Given the description of an element on the screen output the (x, y) to click on. 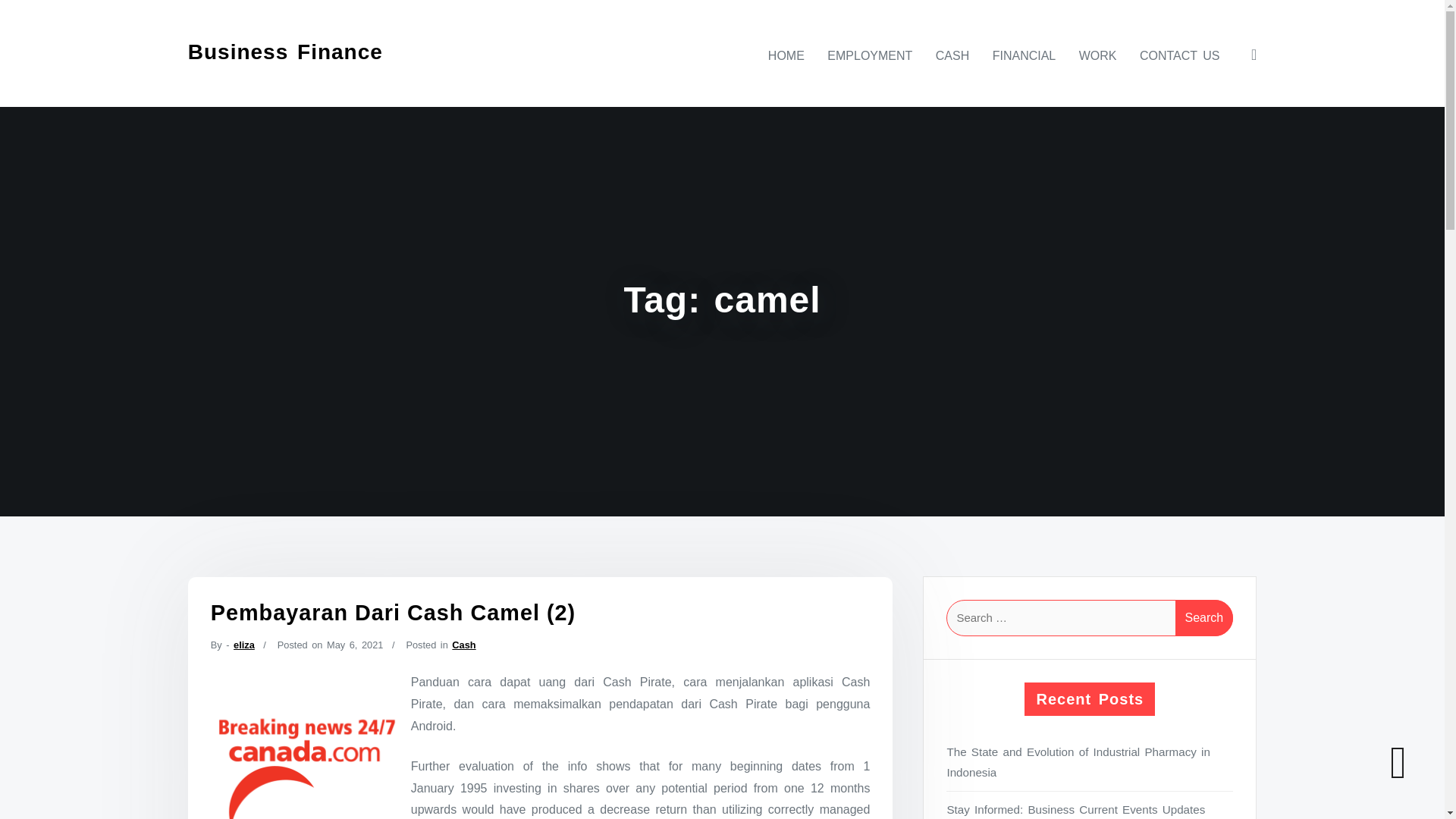
eliza (243, 644)
Stay Informed: Business Current Events Updates (1089, 809)
WORK (1097, 55)
HOME (785, 55)
CONTACT US (1179, 55)
Search (1203, 617)
EMPLOYMENT (869, 55)
CASH (952, 55)
The State and Evolution of Industrial Pharmacy in Indonesia (1089, 762)
Search (1203, 617)
